Given the description of an element on the screen output the (x, y) to click on. 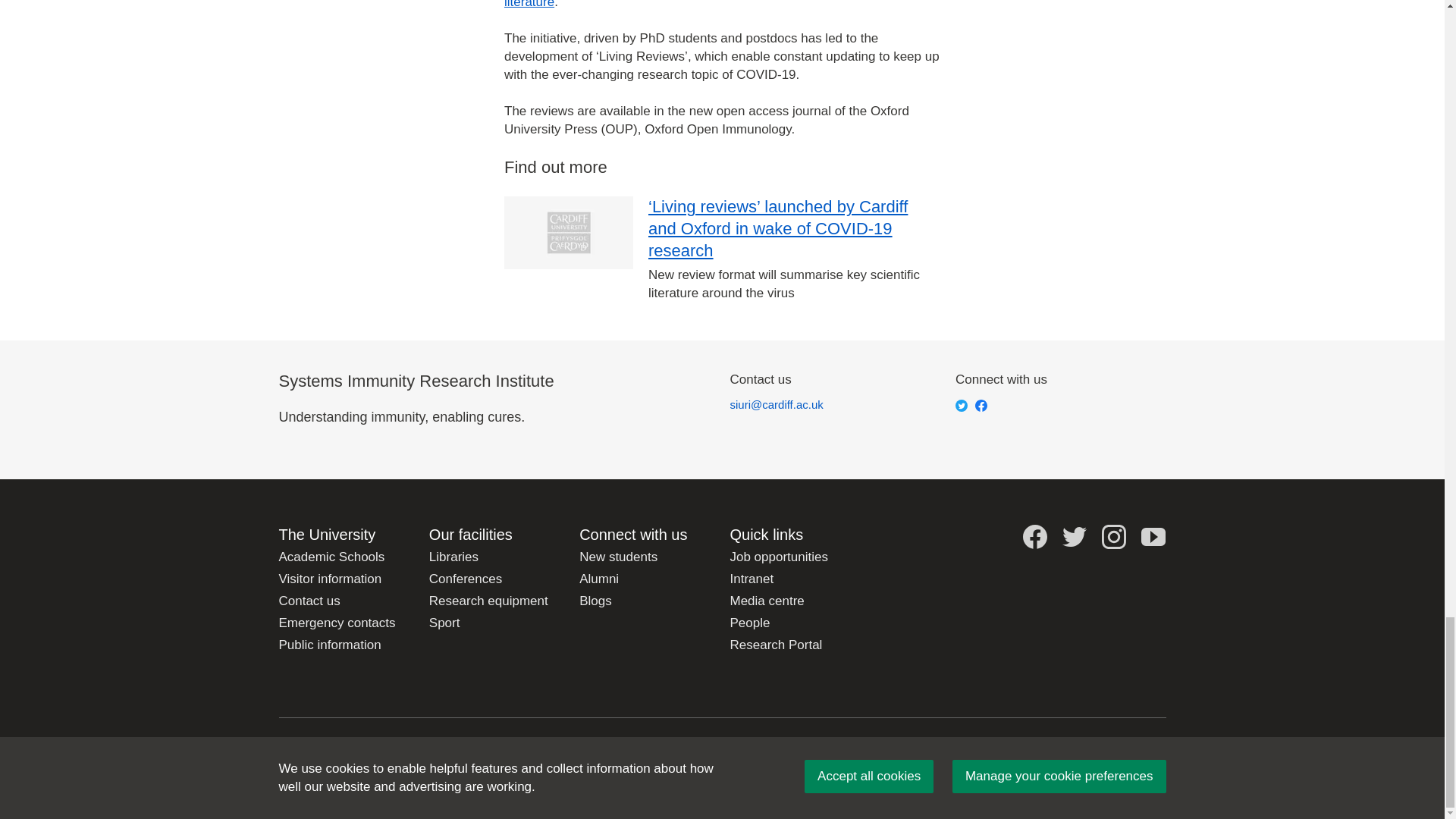
instagram (1113, 536)
Twitter (961, 405)
facebook (981, 405)
facebook (1034, 536)
twitter no background icon (1074, 536)
Youtube (1153, 536)
